Given the description of an element on the screen output the (x, y) to click on. 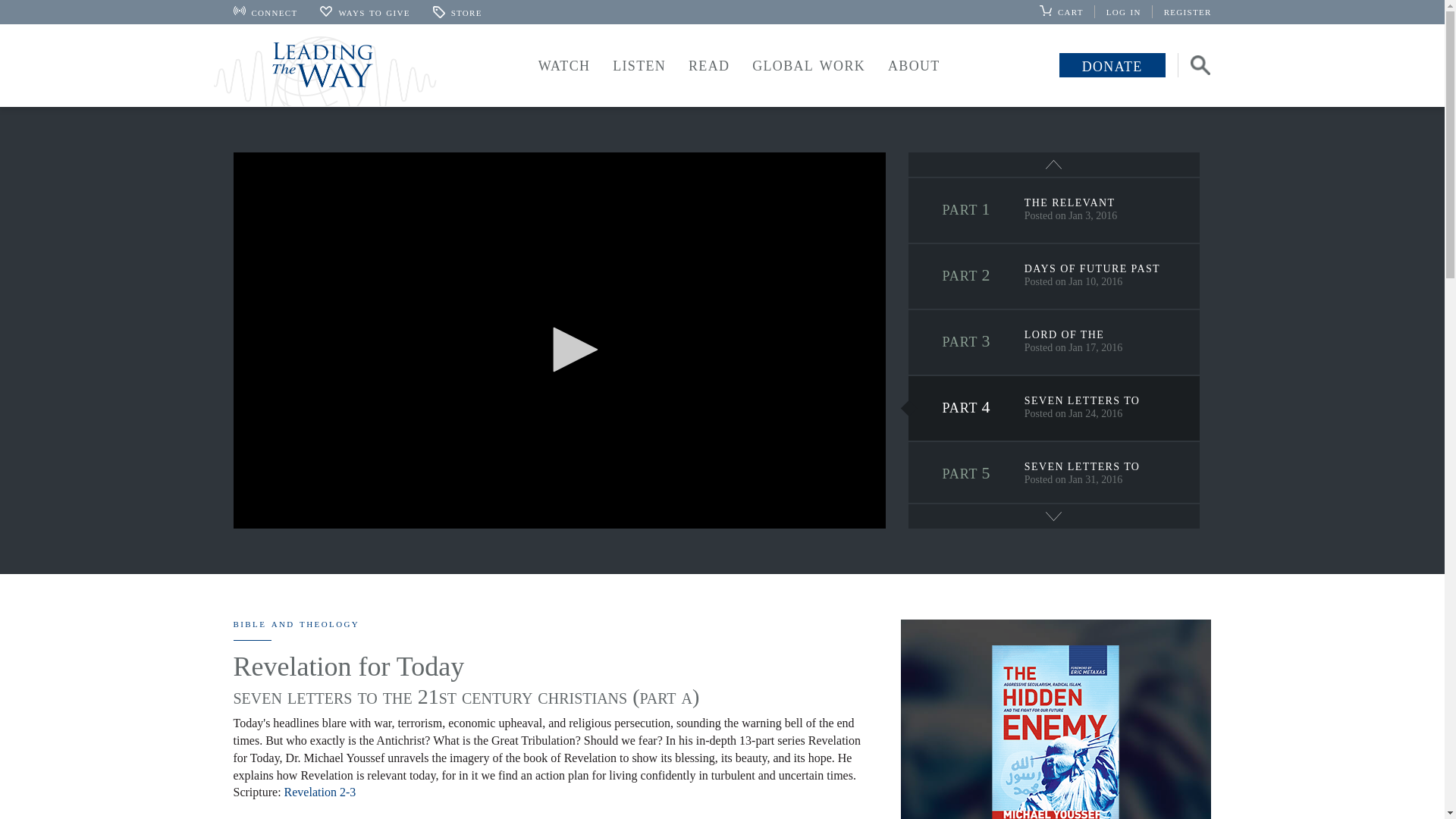
Leading The Way with Dr. Michael Youssef (324, 71)
toggle menu (808, 67)
register (1187, 10)
about (914, 63)
Watch videos with Dr. Michael Youssef (564, 63)
ways to give (364, 11)
log in (1129, 10)
watch (564, 63)
global work (808, 63)
store (456, 11)
